Given the description of an element on the screen output the (x, y) to click on. 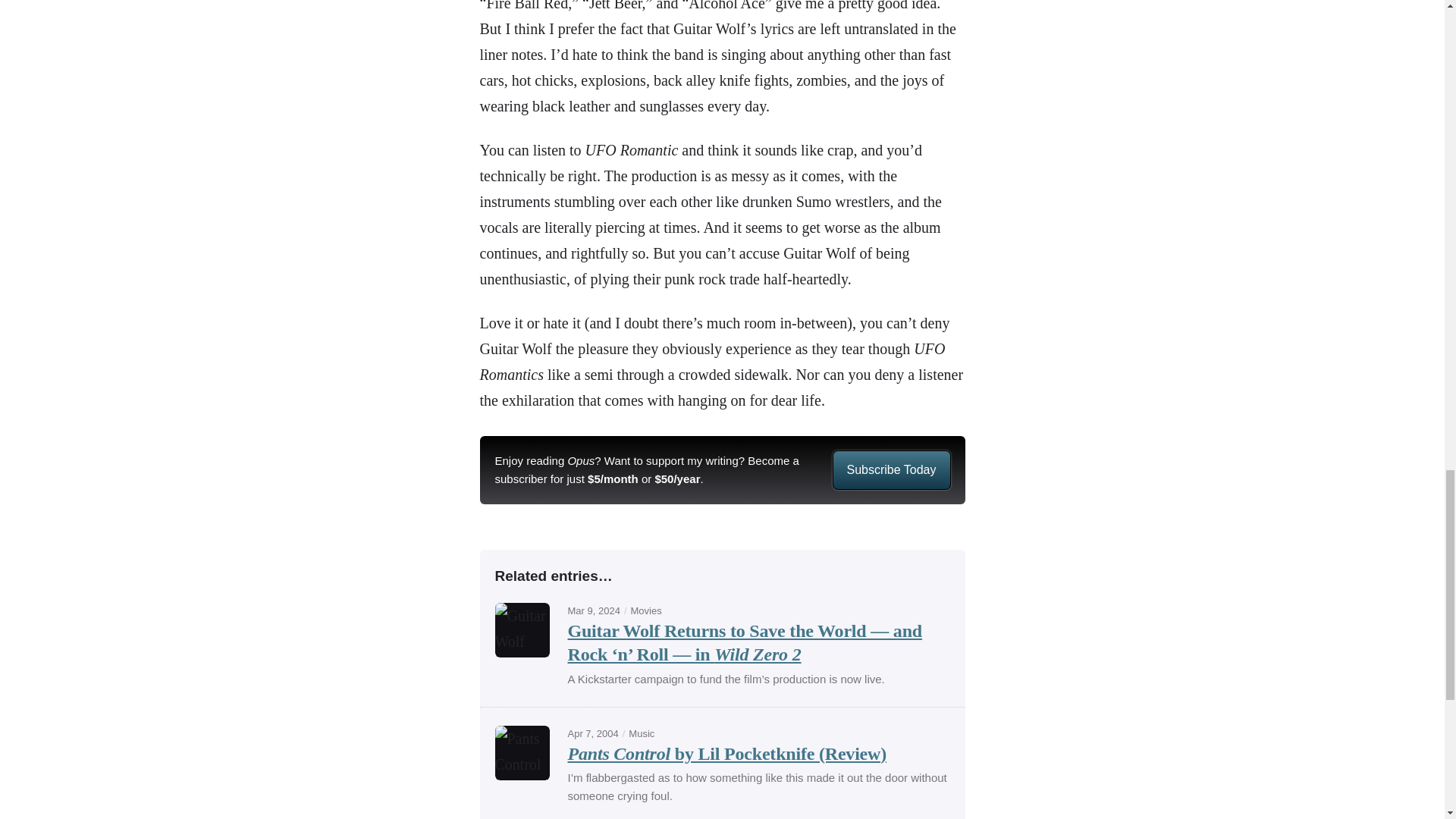
Mar 9, 2024 (593, 610)
Movies (646, 610)
Subscribe Today (890, 469)
Apr 7, 2004 (592, 733)
Music (640, 733)
